Given the description of an element on the screen output the (x, y) to click on. 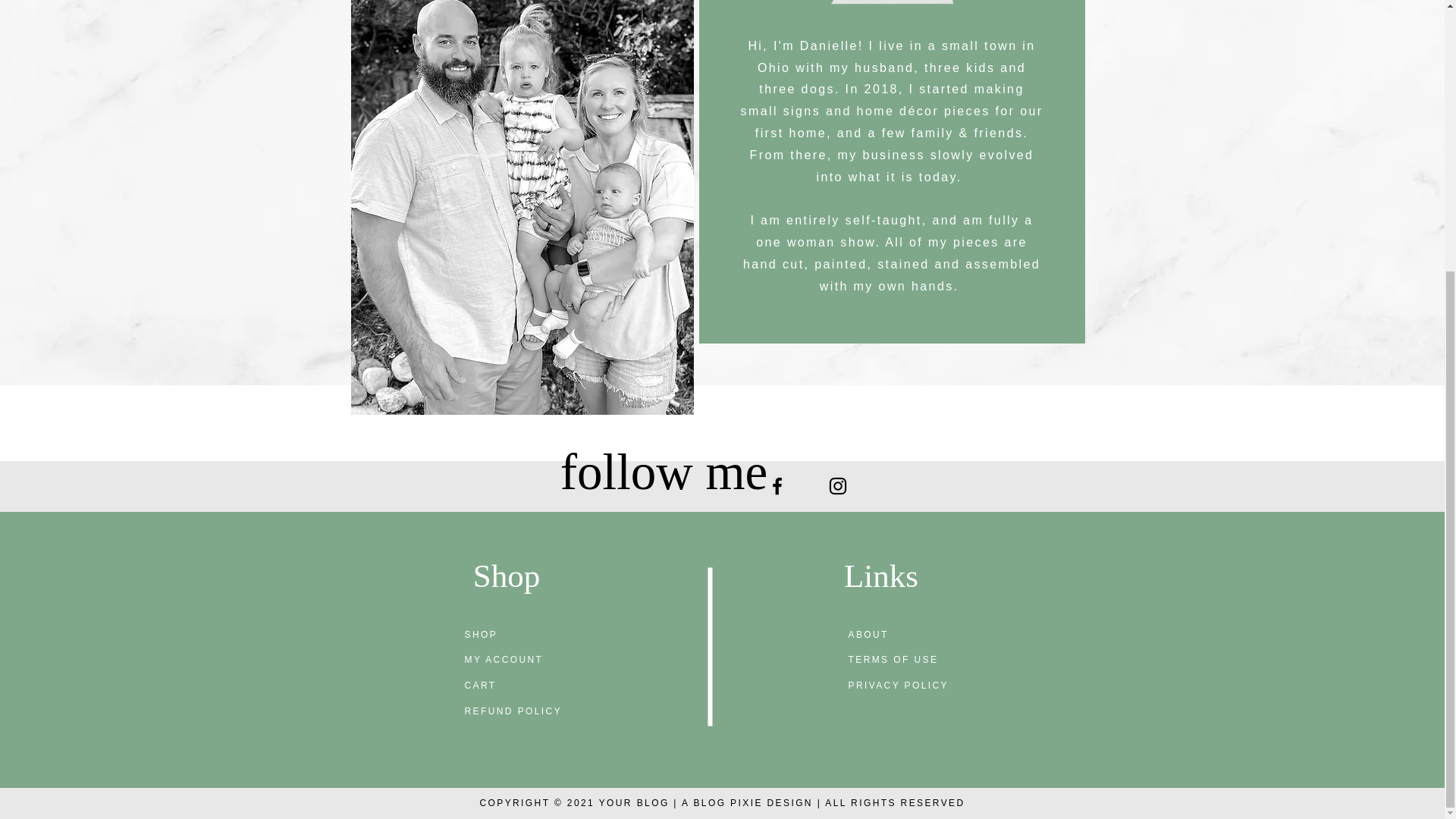
CART (480, 685)
SHOP (480, 634)
TERMS OF USE (892, 672)
MY ACCOUNT (503, 659)
ABOUT (867, 634)
REFUND POLICY (513, 710)
PRIVACY POLICY (898, 685)
BLOG PIXIE (727, 802)
